Given the description of an element on the screen output the (x, y) to click on. 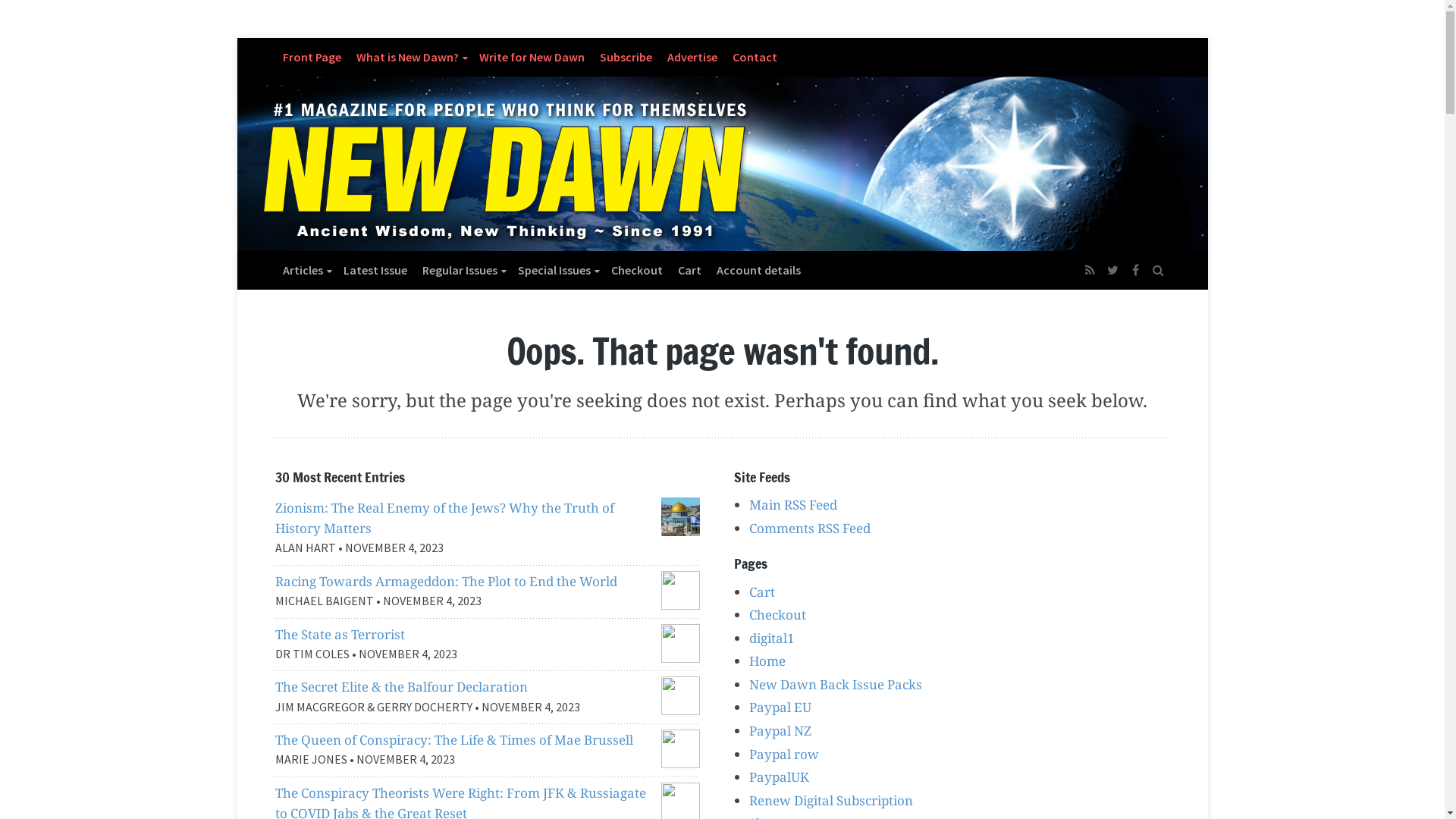
New Dawn Back Issue Packs Element type: text (835, 684)
Write for New Dawn Element type: text (531, 56)
PaypalUK Element type: text (779, 776)
Paypal NZ Element type: text (780, 730)
Paypal EU Element type: text (780, 706)
The Queen of Conspiracy: The Life & Times of Mae Brussell Element type: text (453, 739)
Cart Element type: text (689, 269)
Comments RSS Feed Element type: text (809, 527)
Main RSS Feed Element type: text (793, 504)
Front Page Element type: text (311, 56)
Special Issues Element type: text (555, 269)
Checkout Element type: text (636, 269)
Twitter Element type: hover (1112, 269)
Regular Issues Element type: text (461, 269)
Subscribe Element type: text (624, 56)
The State as Terrorist Element type: text (339, 634)
Articles Element type: text (304, 269)
Renew Digital Subscription Element type: text (831, 800)
digital1 Element type: text (771, 637)
Paypal row Element type: text (784, 753)
Racing Towards Armageddon: The Plot to End the World Element type: text (445, 580)
Facebook Element type: hover (1134, 269)
Home Element type: text (767, 660)
Checkout Element type: text (777, 614)
Advertise Element type: text (691, 56)
RSS Feed Element type: hover (1089, 269)
Account details Element type: text (757, 269)
Latest Issue Element type: text (374, 269)
Cart Element type: text (762, 590)
Display Search Form Element type: hover (1157, 262)
The Secret Elite & the Balfour Declaration Element type: text (400, 686)
What is New Dawn? Element type: text (409, 56)
Contact Element type: text (754, 56)
